Given the description of an element on the screen output the (x, y) to click on. 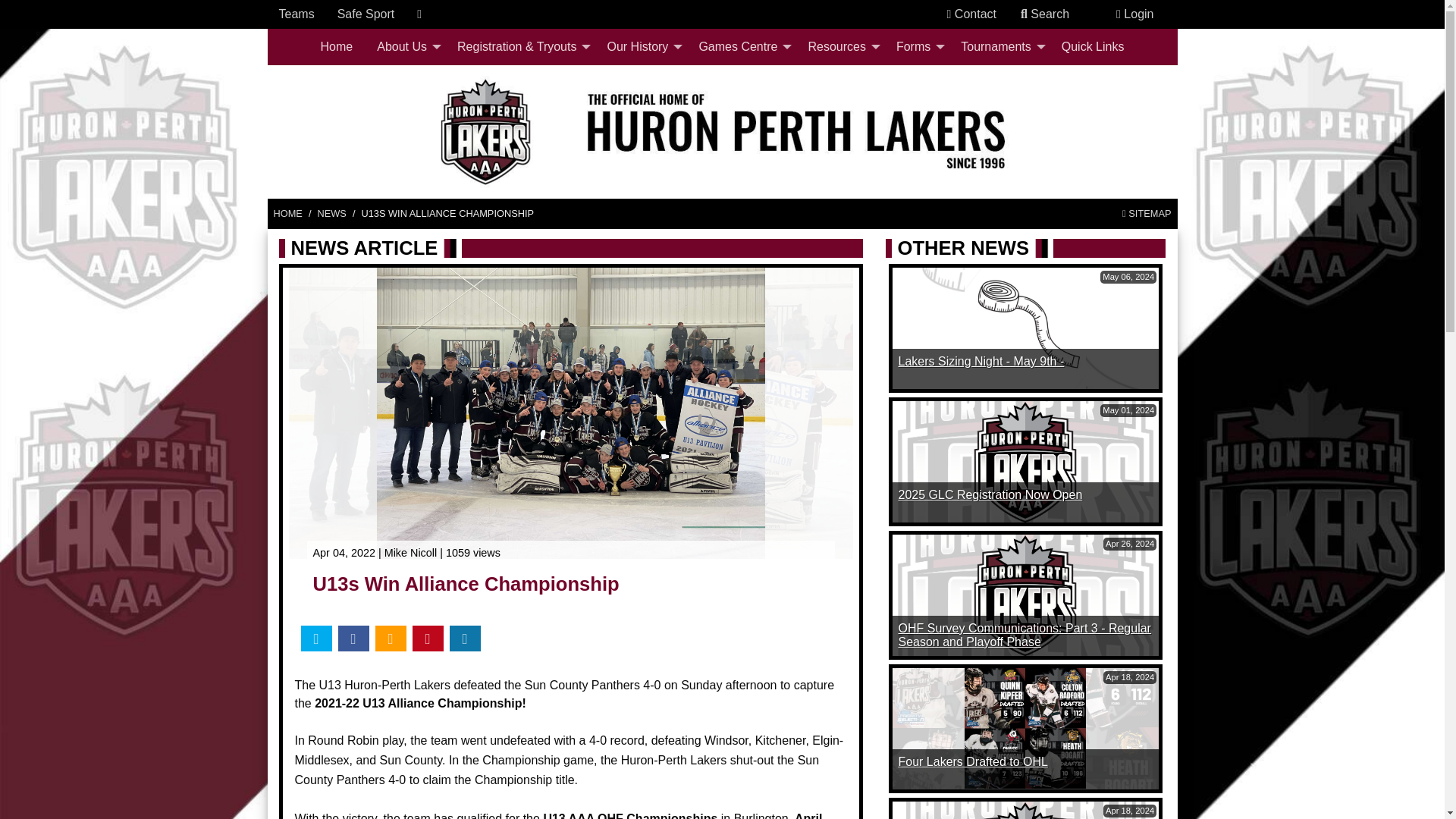
 Contact (971, 14)
Teams (296, 13)
Go to the sitemap page for this website (1146, 212)
List of News (331, 212)
Safe Sport (365, 13)
Our History (639, 46)
 Search (1045, 14)
read more of this item (981, 360)
Games Centre (739, 46)
Main Home Page (287, 212)
read more of this item (989, 494)
Home (336, 46)
About Us (405, 46)
 Login (1134, 14)
